Given the description of an element on the screen output the (x, y) to click on. 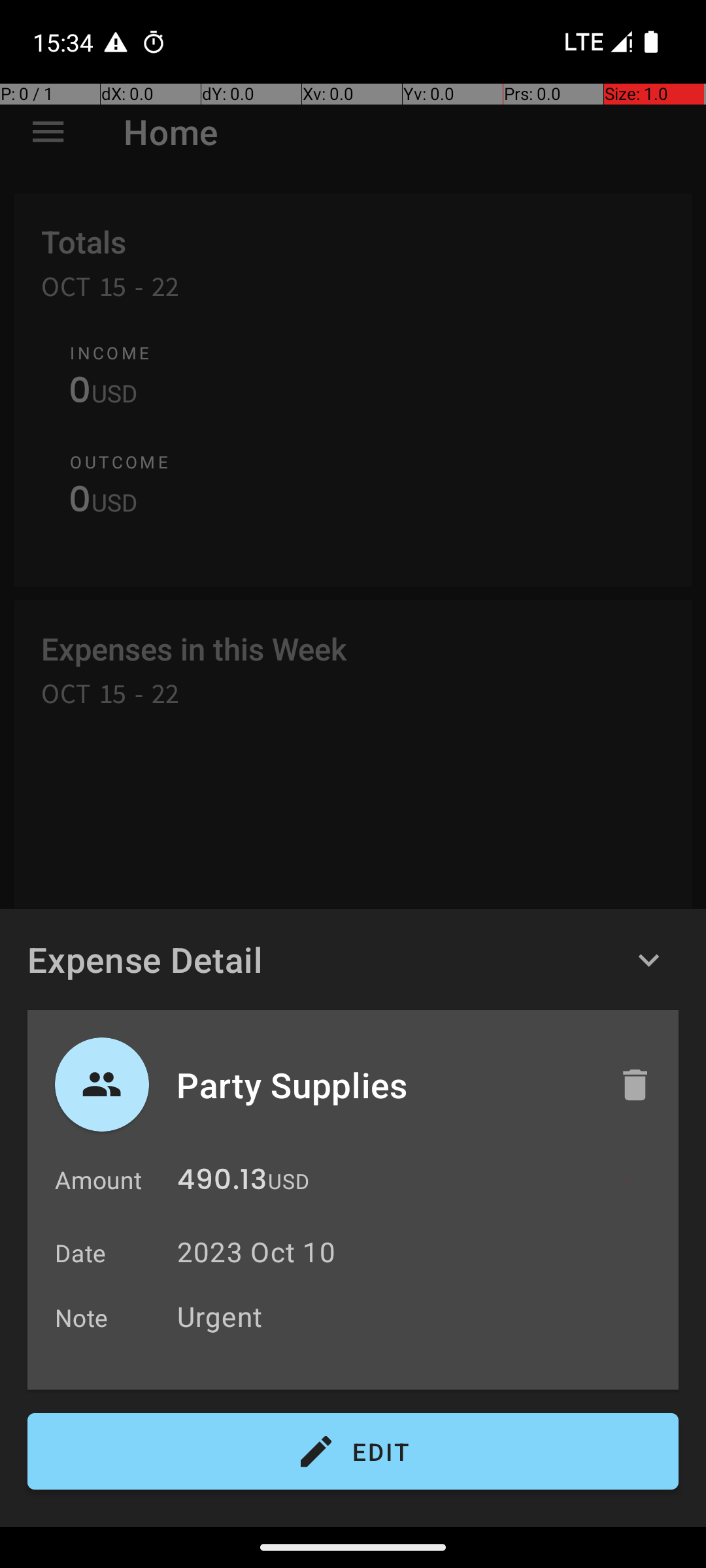
Party Supplies Element type: android.widget.TextView (383, 1084)
490.13 Element type: android.widget.TextView (221, 1182)
2023 Oct 10 Element type: android.widget.TextView (256, 1251)
Urgent Element type: android.widget.TextView (420, 1315)
